Given the description of an element on the screen output the (x, y) to click on. 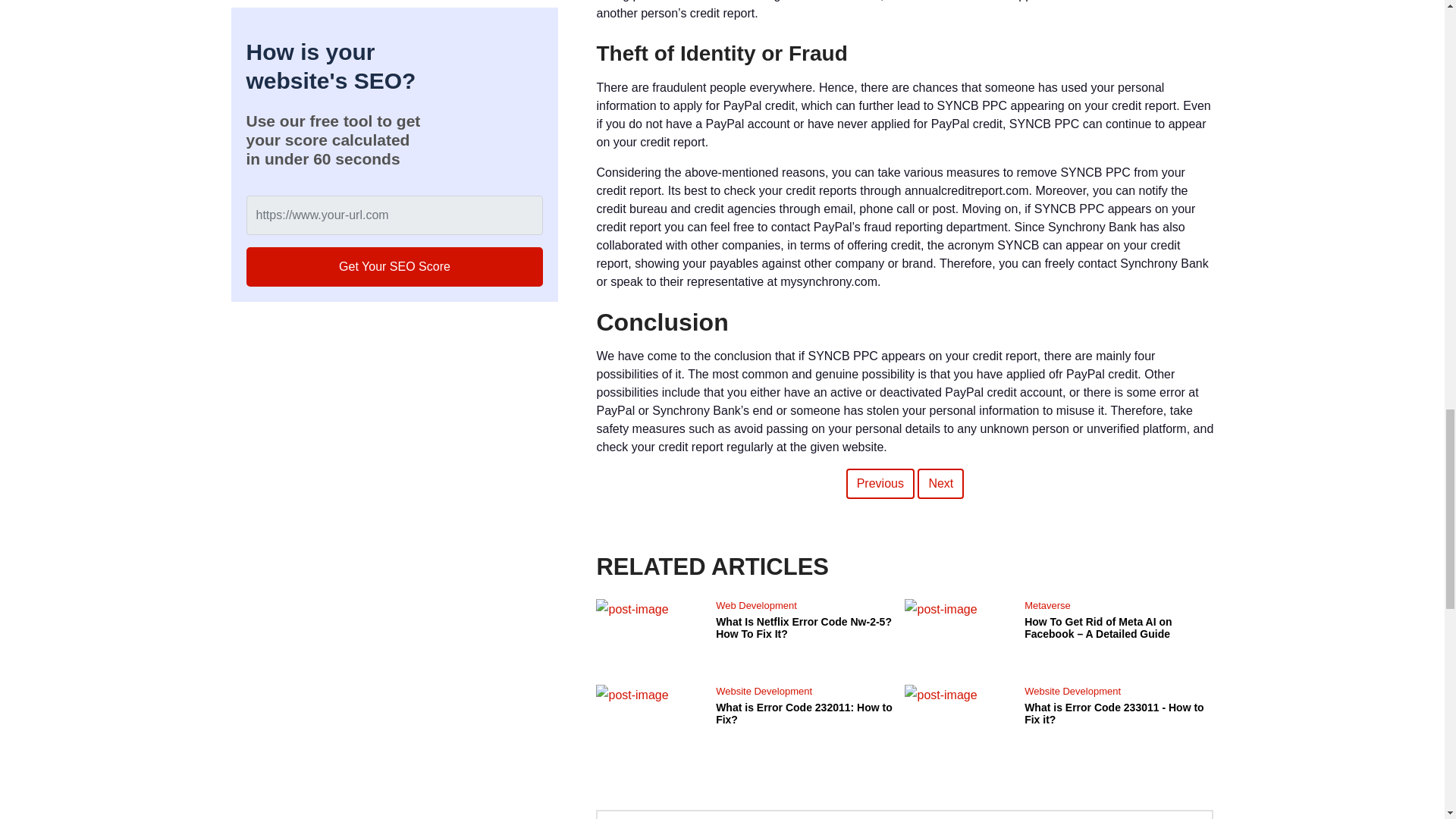
What is Universal Basic Asset? A Detailed Guide (879, 483)
